Given the description of an element on the screen output the (x, y) to click on. 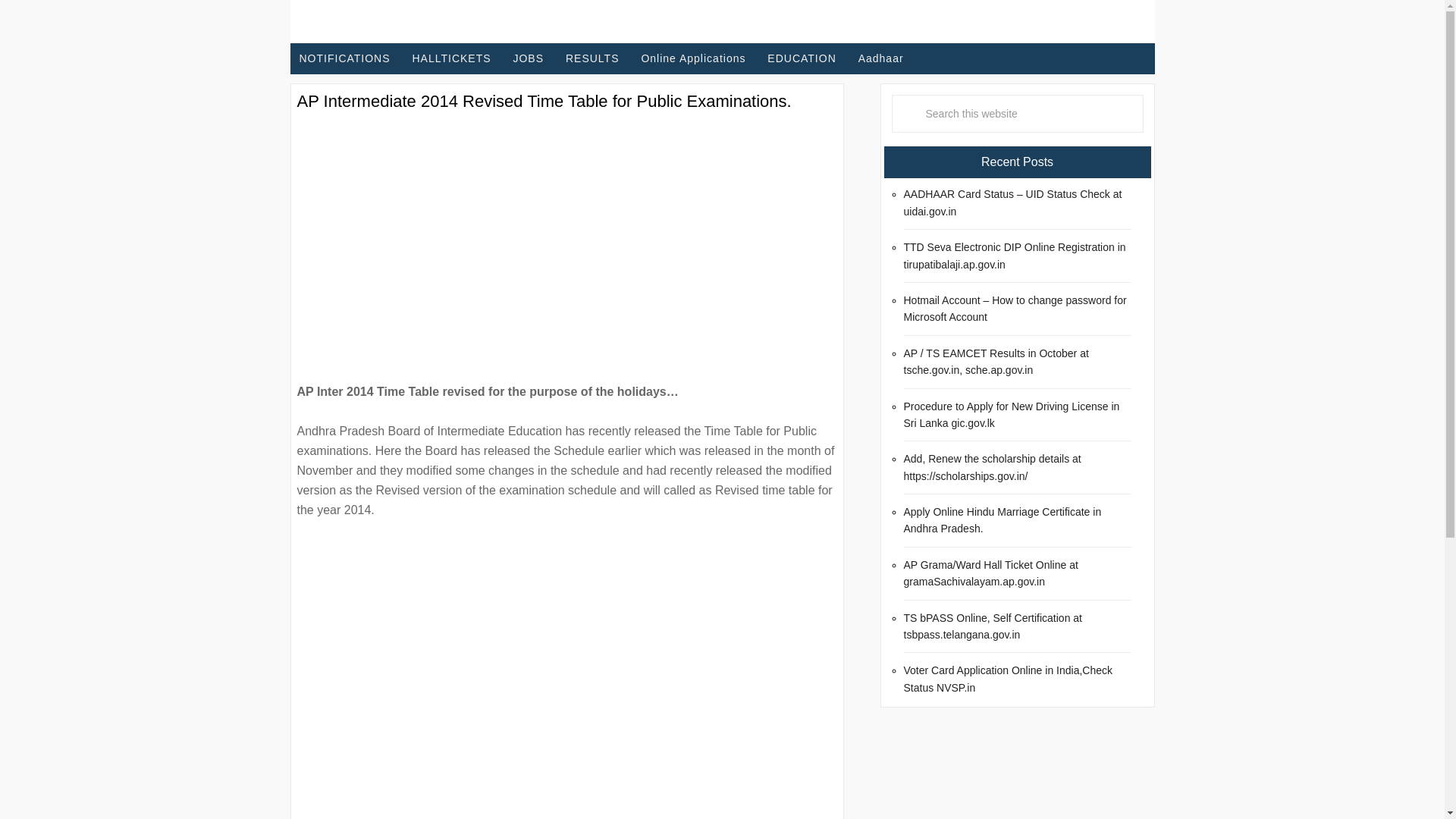
EDUCATION (801, 58)
Aadhaar (880, 58)
Updates Point (407, 20)
Apply Online Hindu Marriage Certificate in Andhra Pradesh. (1003, 520)
HALLTICKETS (451, 58)
RESULTS (592, 58)
